Given the description of an element on the screen output the (x, y) to click on. 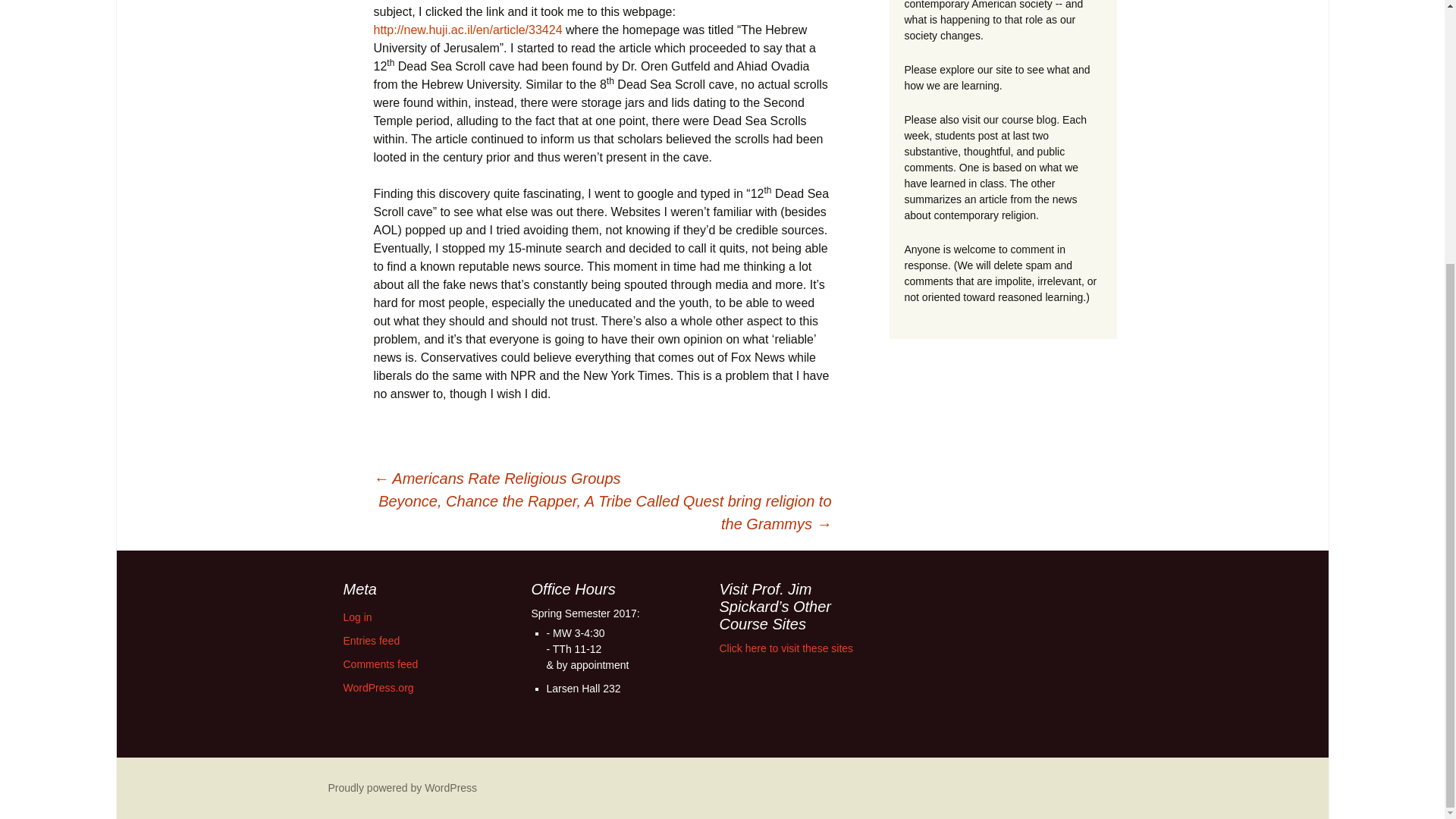
Entries feed (370, 640)
Click here to visit these sites (786, 648)
Proudly powered by WordPress (402, 787)
Comments feed (379, 664)
WordPress.org (377, 687)
Log in (356, 616)
